Given the description of an element on the screen output the (x, y) to click on. 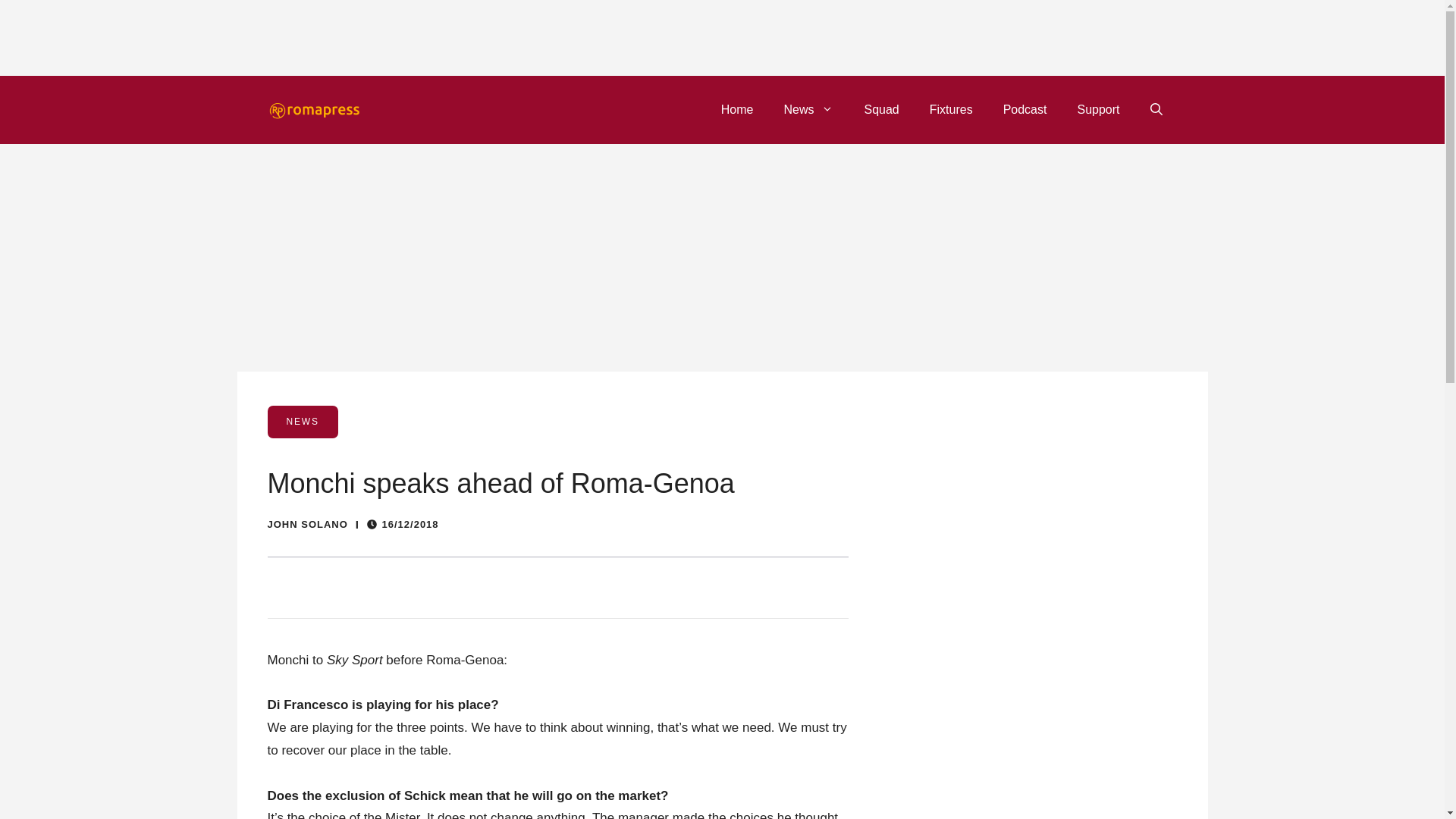
Support (1097, 109)
Fixtures (951, 109)
News (808, 109)
Podcast (1025, 109)
Squad (881, 109)
Home (737, 109)
